Given the description of an element on the screen output the (x, y) to click on. 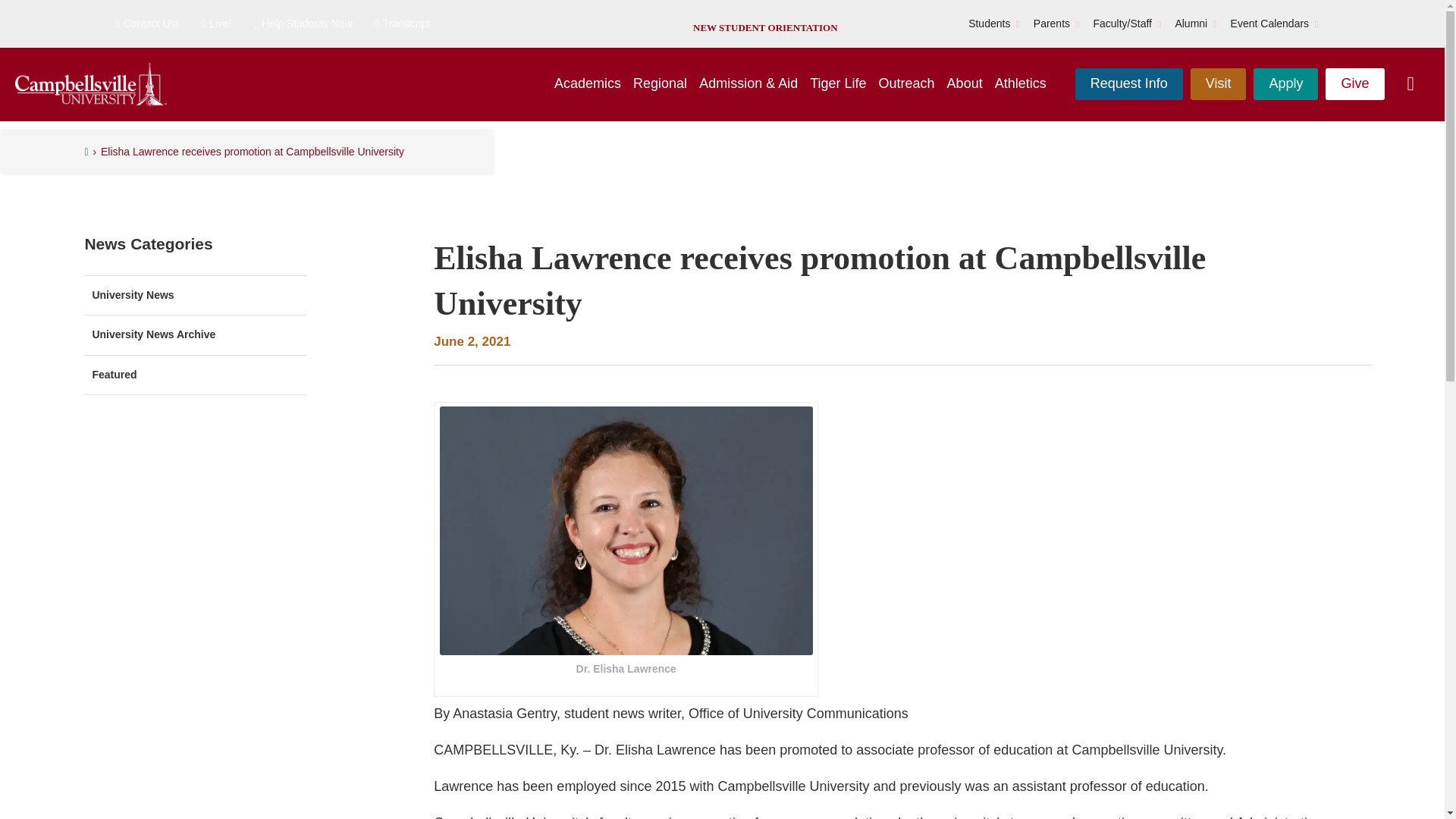
Live! (216, 24)
Help Students Now (302, 24)
Campbellsville University Logo (90, 84)
Transcript (402, 24)
Students (989, 24)
NEW STUDENT ORIENTATION (765, 27)
Parents (1051, 24)
Contact Us! (146, 24)
